Given the description of an element on the screen output the (x, y) to click on. 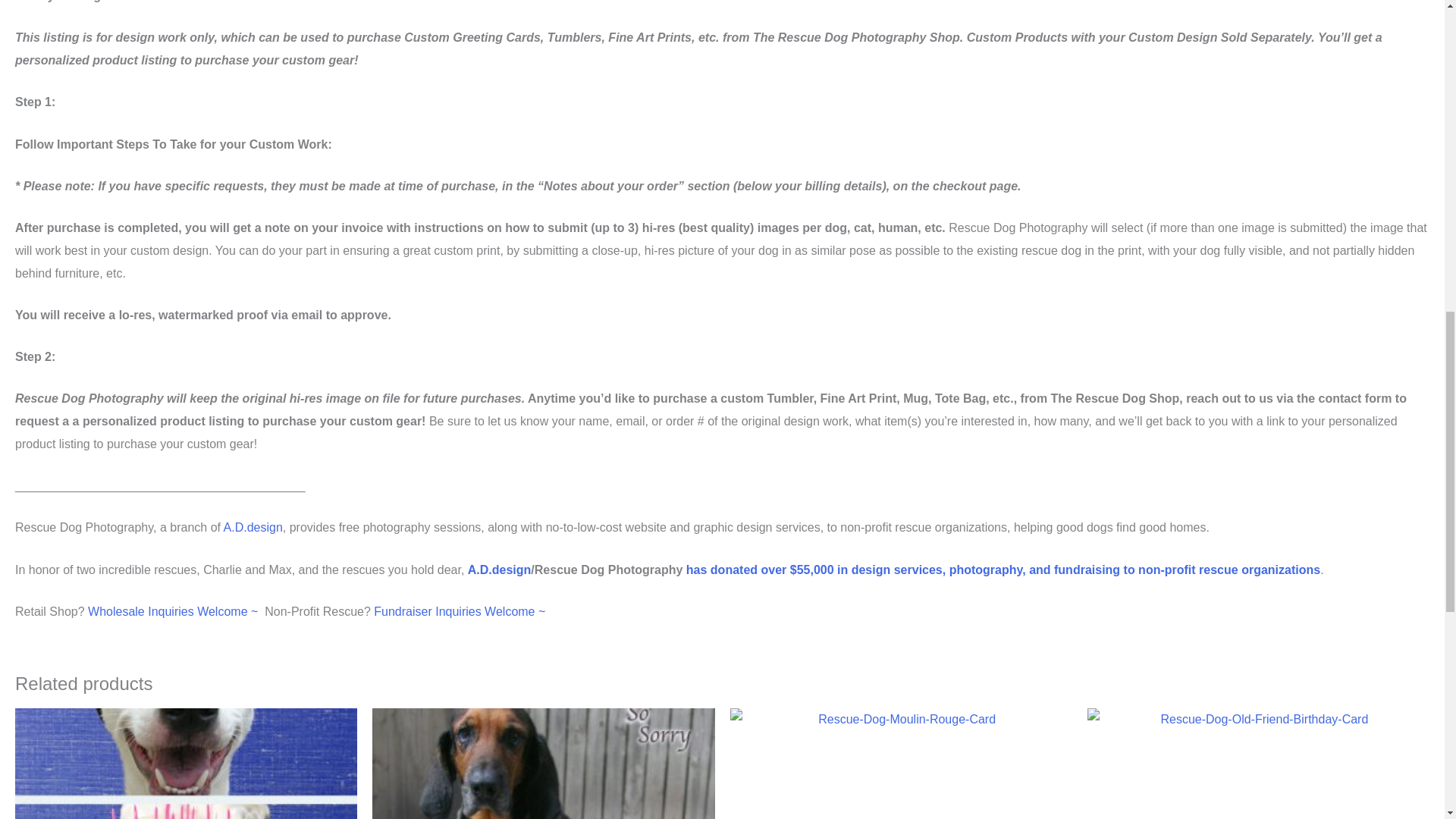
A.D.design (499, 569)
A.D.design (253, 526)
